Given the description of an element on the screen output the (x, y) to click on. 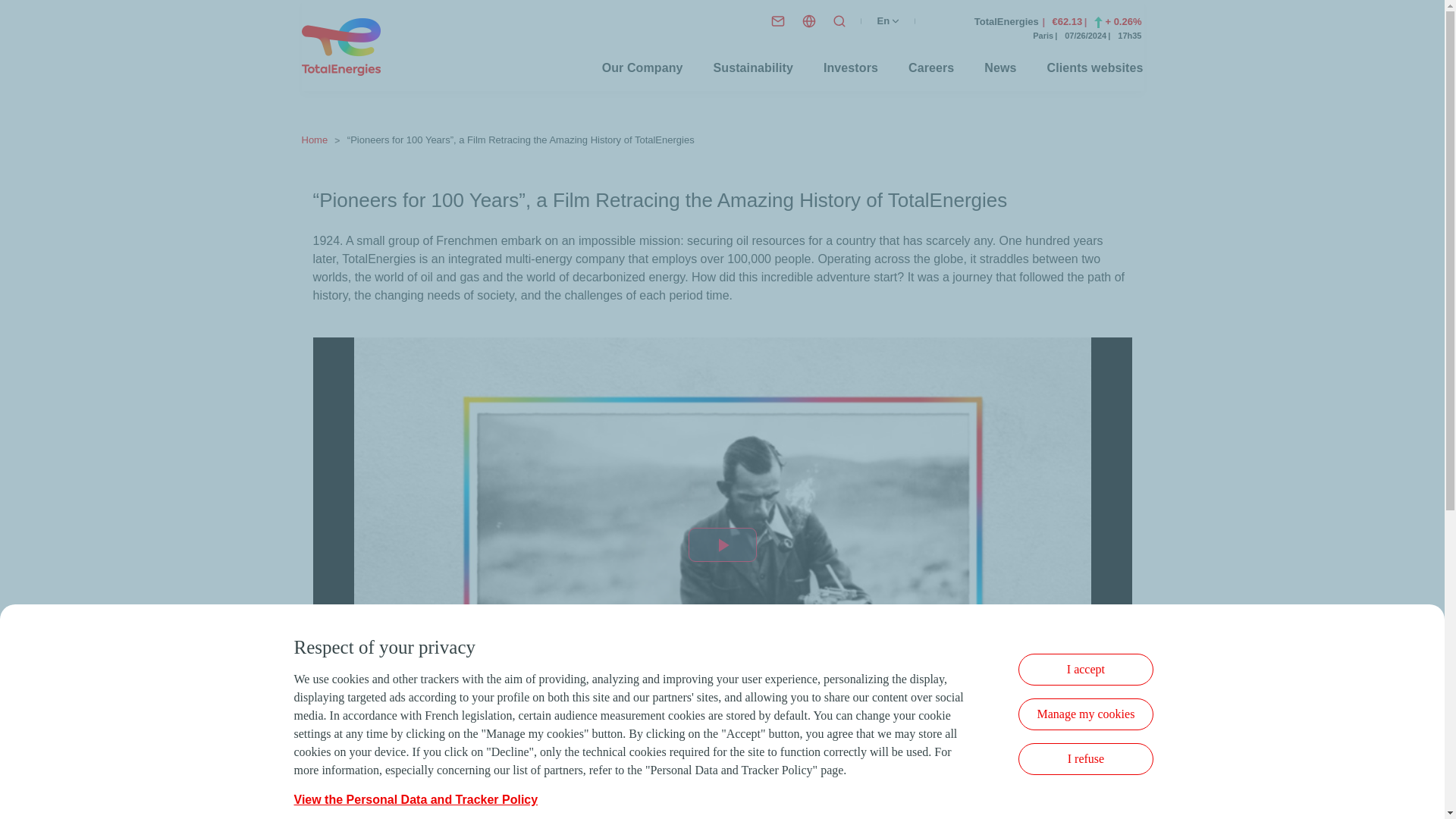
Our presence in the world (808, 19)
Contact (777, 19)
Our Company (642, 67)
